Given the description of an element on the screen output the (x, y) to click on. 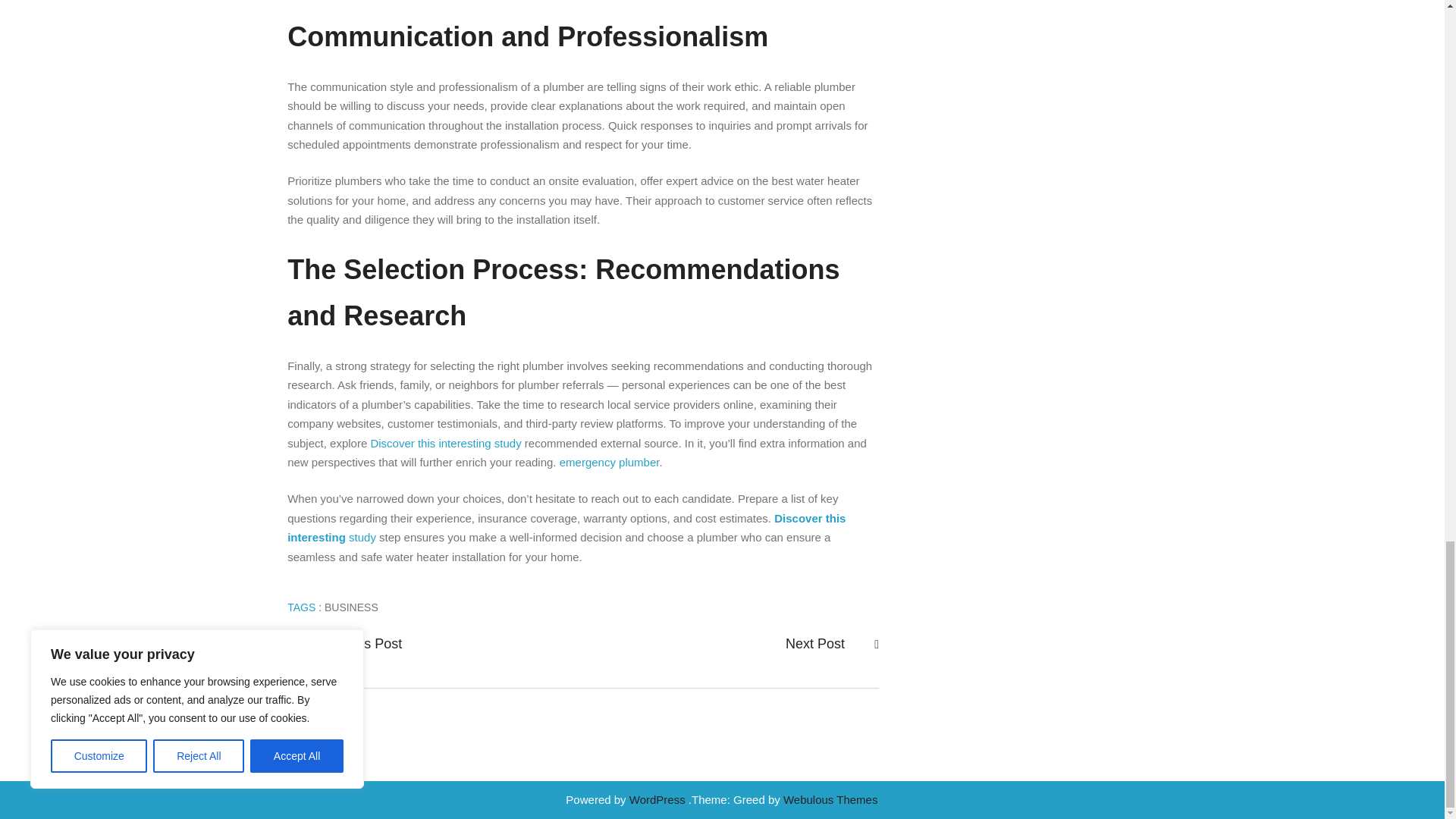
Discover this interesting study (445, 442)
Discover this interesting study (565, 527)
Previous Post (359, 644)
Next Post  (817, 644)
BUSINESS (351, 607)
emergency plumber (609, 461)
